Given the description of an element on the screen output the (x, y) to click on. 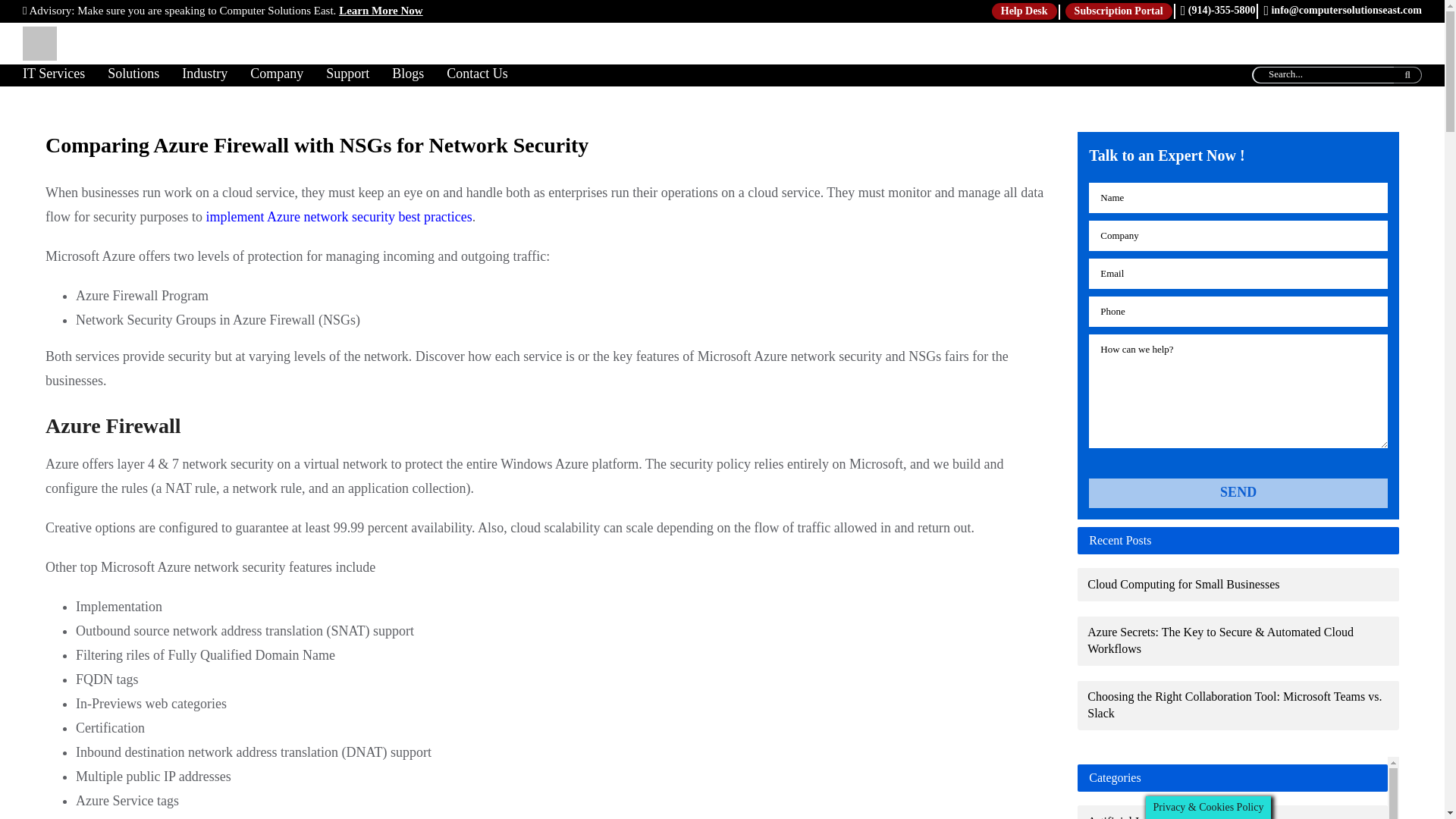
Read More (381, 10)
IT Services (65, 75)
Help Desk (1024, 11)
Subscription Portal (1118, 11)
SEND (1238, 492)
Learn More Now (381, 10)
Search (1407, 74)
